Given the description of an element on the screen output the (x, y) to click on. 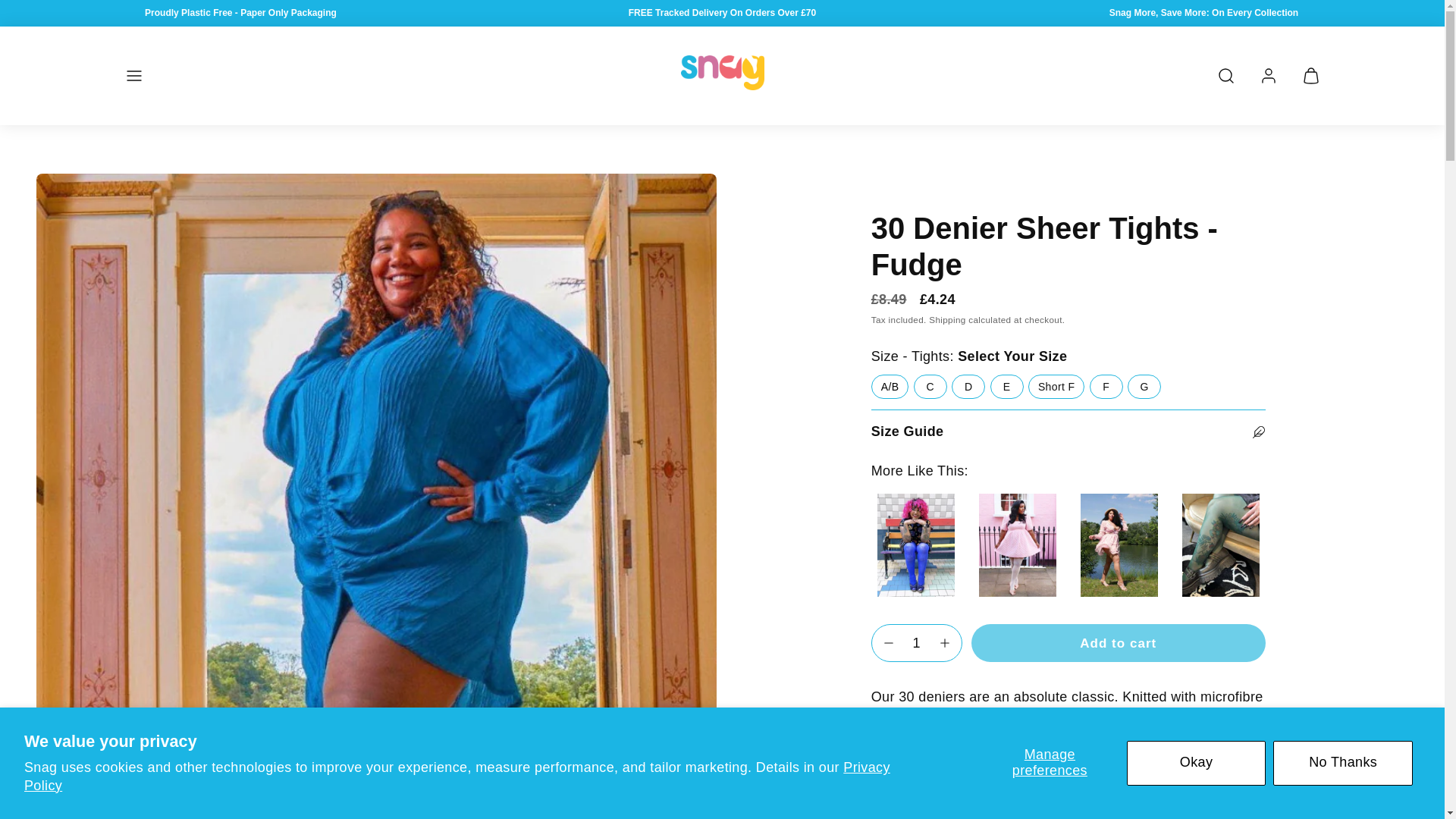
1 (916, 643)
MENU (133, 75)
SEARCH (1225, 75)
Okay (1196, 763)
ACCOUNT (1267, 75)
Manage preferences (1049, 763)
Privacy Policy (456, 776)
No Thanks (1342, 763)
